Given the description of an element on the screen output the (x, y) to click on. 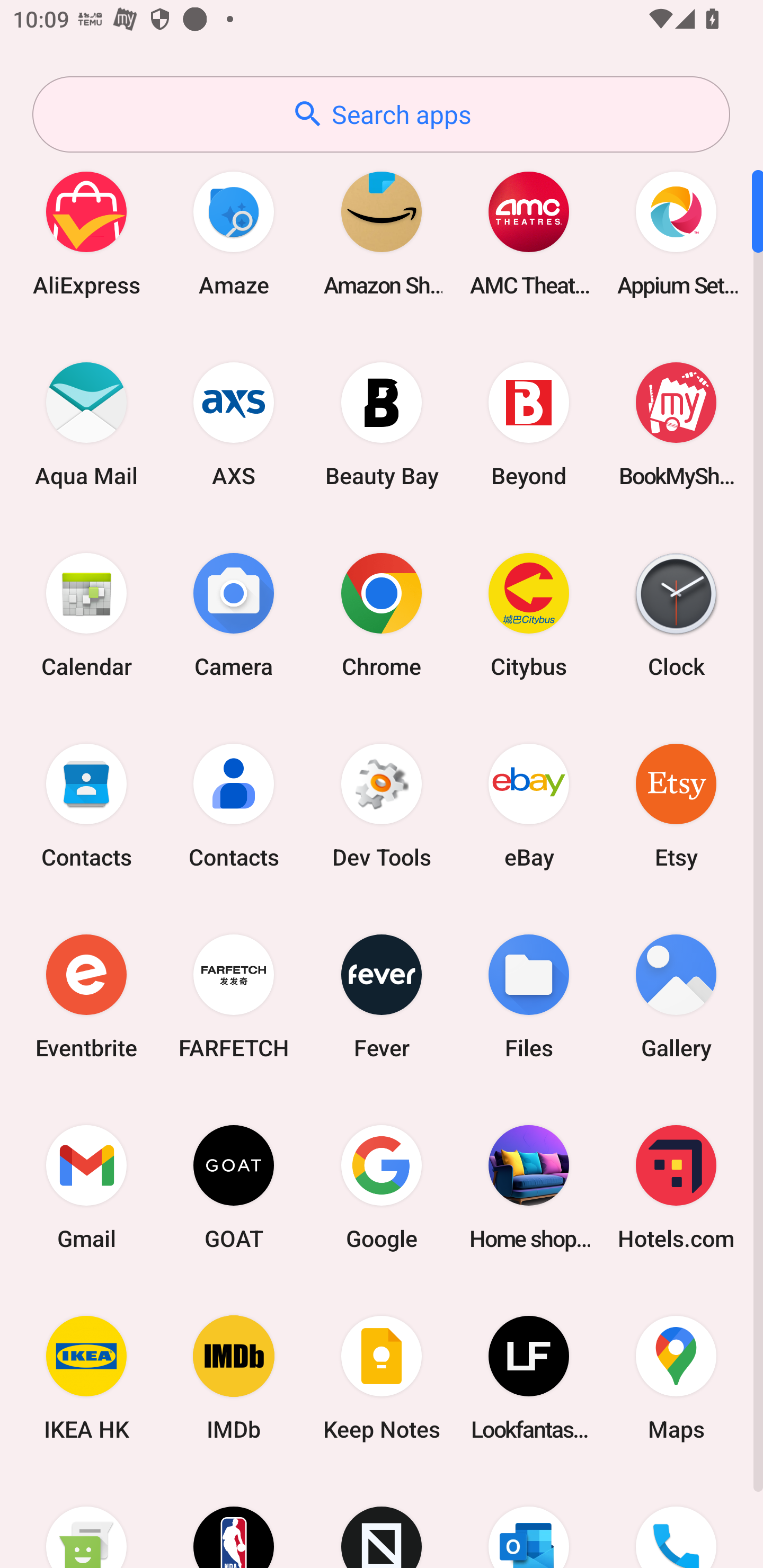
  Search apps (381, 114)
AliExpress (86, 233)
Amaze (233, 233)
Amazon Shopping (381, 233)
AMC Theatres (528, 233)
Appium Settings (676, 233)
Aqua Mail (86, 424)
AXS (233, 424)
Beauty Bay (381, 424)
Beyond (528, 424)
BookMyShow (676, 424)
Calendar (86, 614)
Camera (233, 614)
Chrome (381, 614)
Citybus (528, 614)
Clock (676, 614)
Contacts (86, 805)
Contacts (233, 805)
Dev Tools (381, 805)
eBay (528, 805)
Etsy (676, 805)
Eventbrite (86, 996)
FARFETCH (233, 996)
Fever (381, 996)
Files (528, 996)
Gallery (676, 996)
Gmail (86, 1186)
GOAT (233, 1186)
Google (381, 1186)
Home shopping (528, 1186)
Hotels.com (676, 1186)
IKEA HK (86, 1377)
IMDb (233, 1377)
Keep Notes (381, 1377)
Lookfantastic (528, 1377)
Maps (676, 1377)
